Given the description of an element on the screen output the (x, y) to click on. 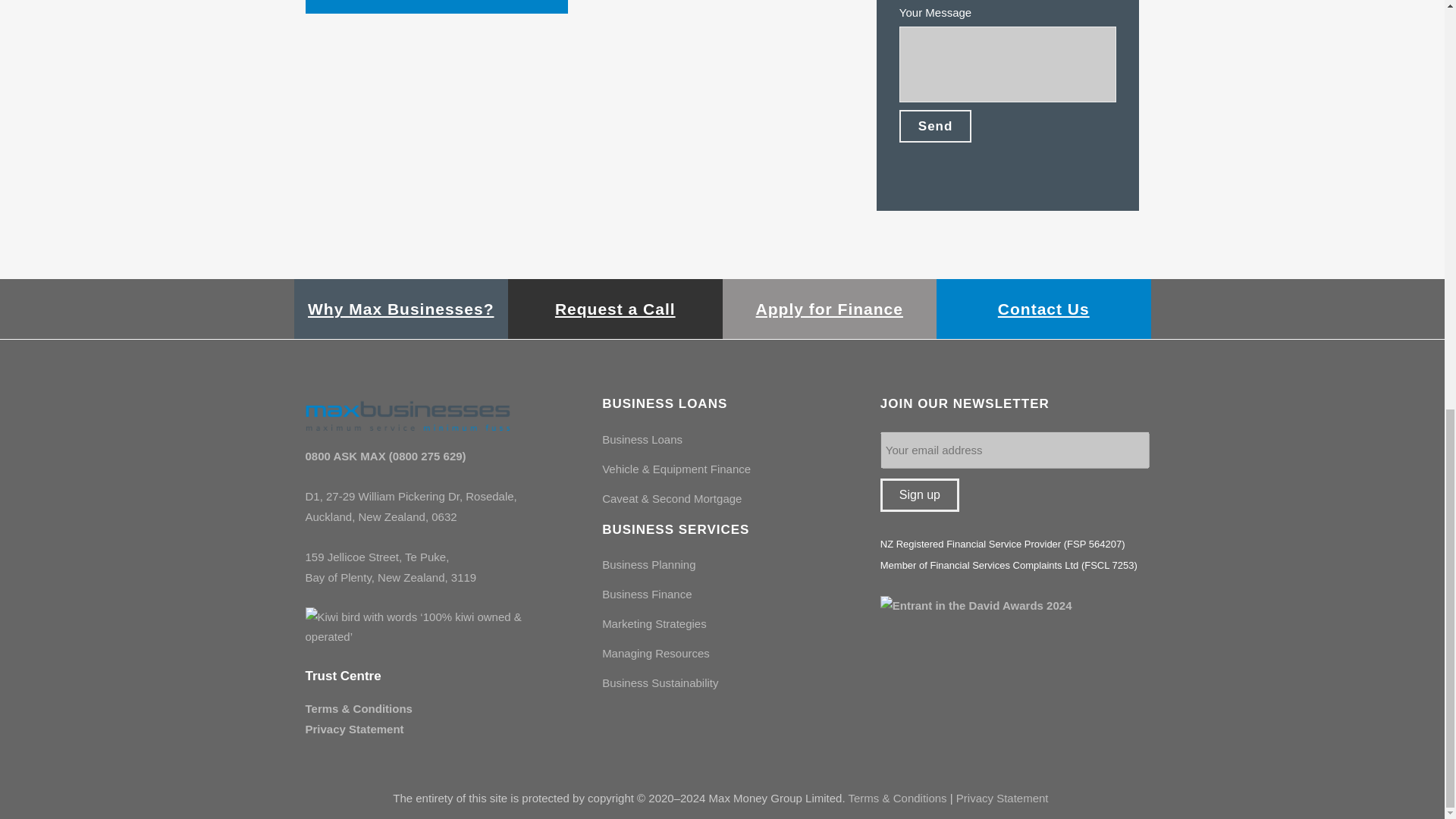
Contact Us (1043, 308)
Sign up (919, 494)
Request a Call (614, 308)
Send (935, 125)
Apply for Finance (828, 308)
Why Max Businesses? (400, 308)
Send (935, 125)
